Given the description of an element on the screen output the (x, y) to click on. 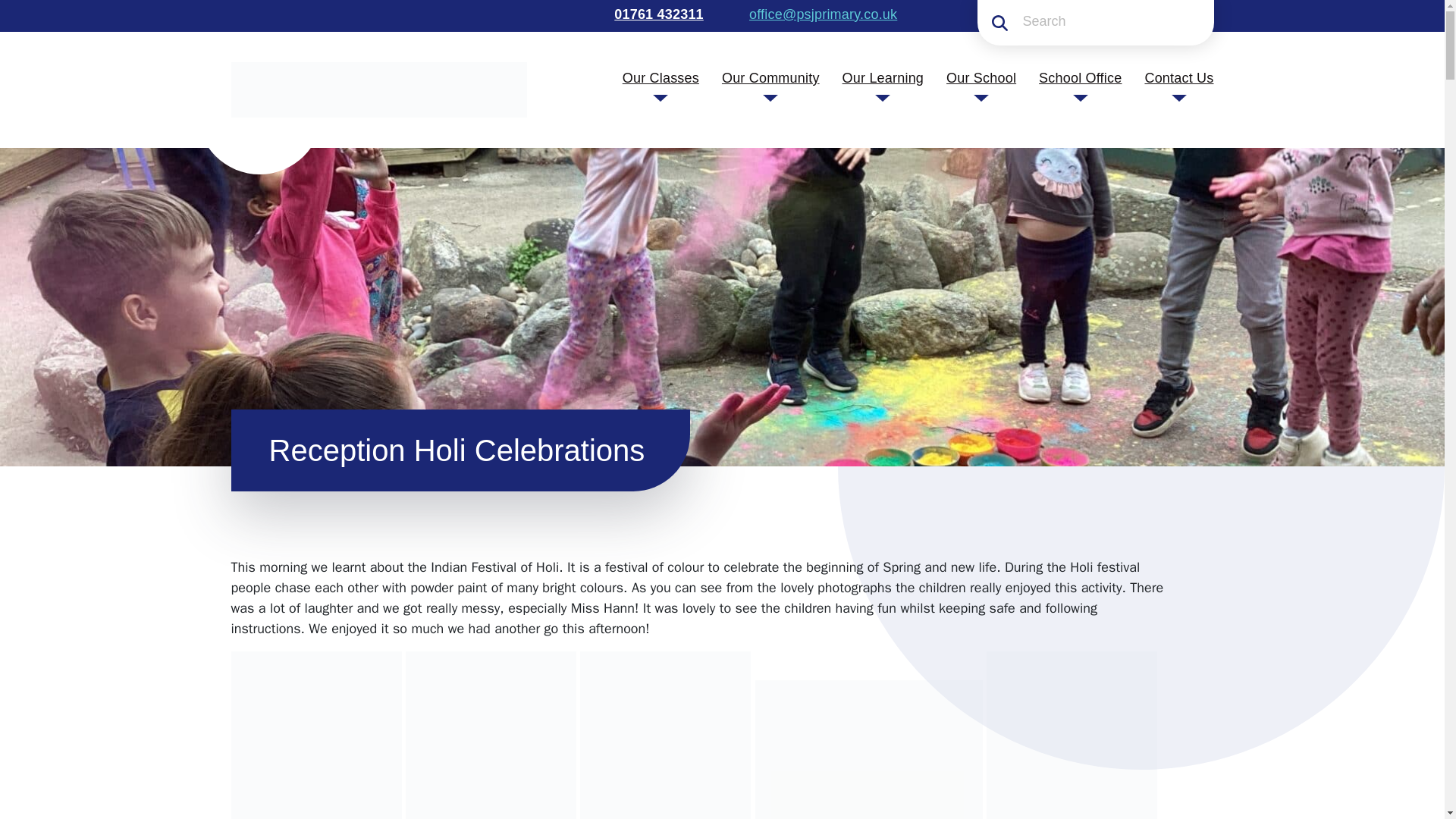
01761 432311 (656, 14)
Our Community (770, 77)
Our School (981, 77)
Our Classes (660, 77)
Our Classes (660, 77)
Our Community (770, 77)
Our Learning (883, 77)
